Given the description of an element on the screen output the (x, y) to click on. 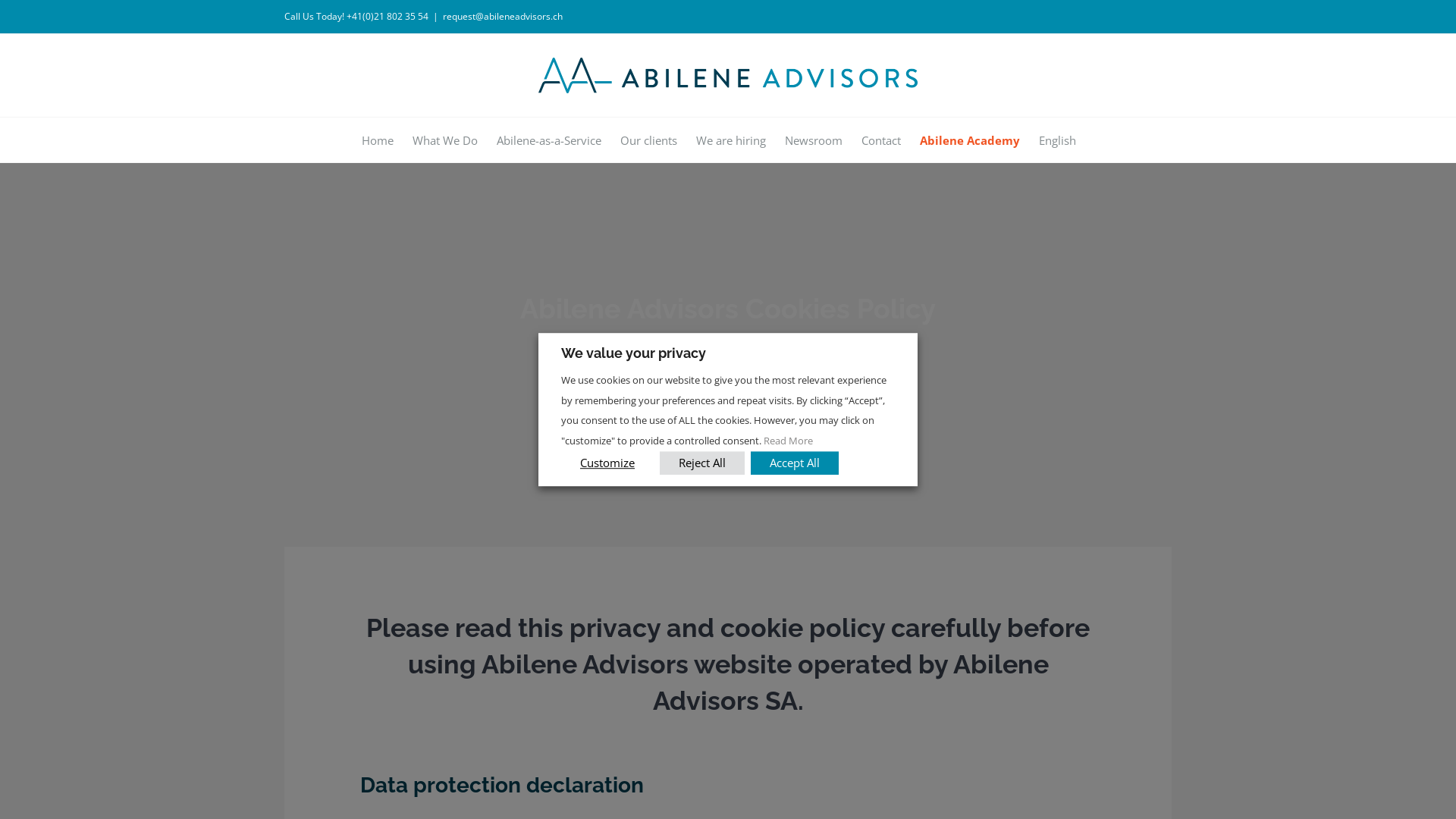
request@abileneadvisors.ch Element type: text (502, 15)
Newsroom Element type: text (812, 138)
Abilene Academy Element type: text (969, 138)
What We Do Element type: text (444, 138)
Reject All Element type: text (701, 462)
Contact Element type: text (880, 138)
Our clients Element type: text (648, 138)
Home Element type: text (376, 138)
Accept All Element type: text (794, 462)
Read More Element type: text (787, 440)
Abilene-as-a-Service Element type: text (547, 138)
English Element type: text (1057, 138)
We are hiring Element type: text (730, 138)
Customize Element type: text (607, 462)
